Given the description of an element on the screen output the (x, y) to click on. 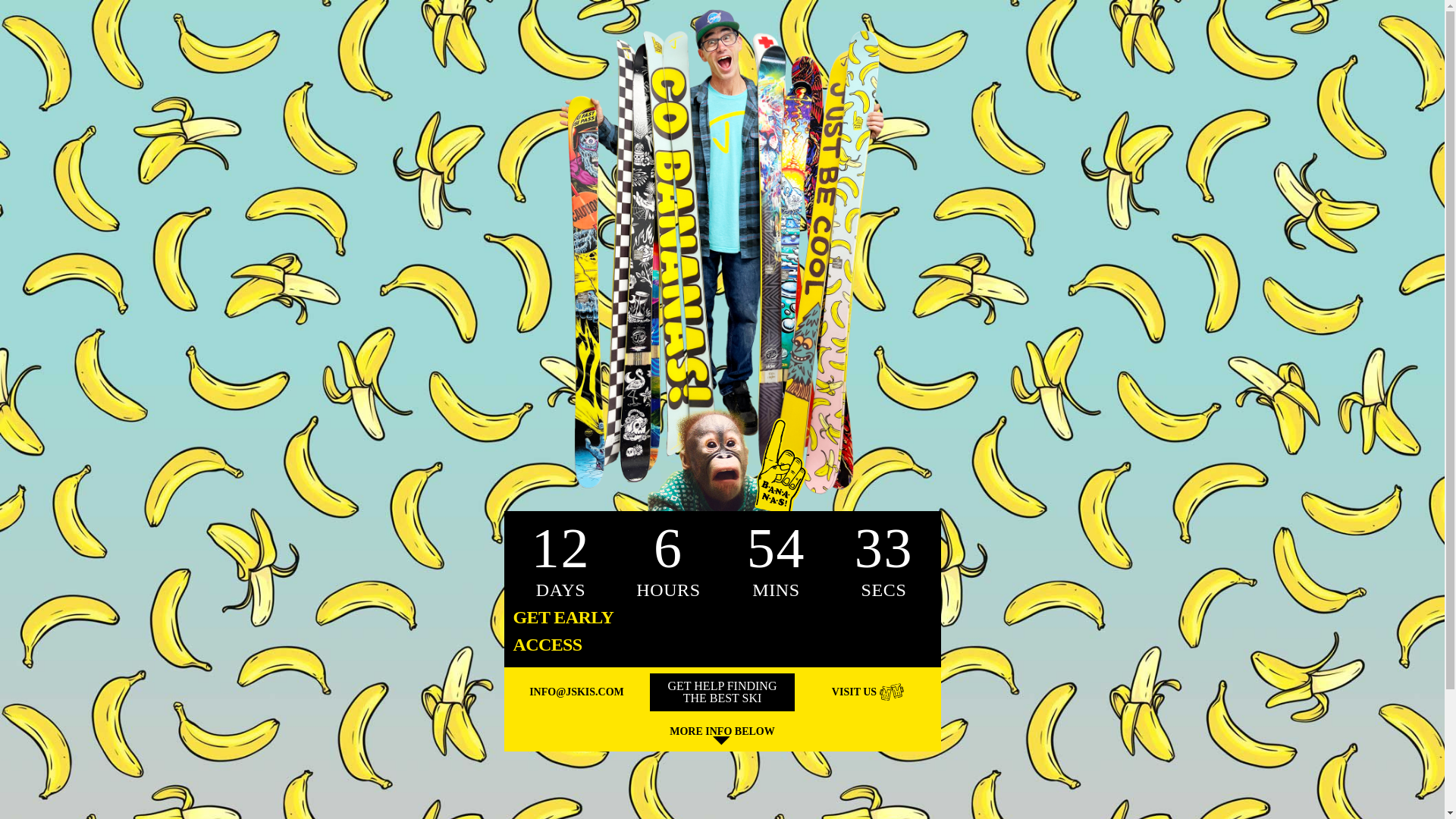
MORE INFO BELOW (721, 737)
GET HELP FINDING THE BEST SKI (721, 692)
VISIT US (867, 692)
Skip to J Skis Content (11, 11)
